Given the description of an element on the screen output the (x, y) to click on. 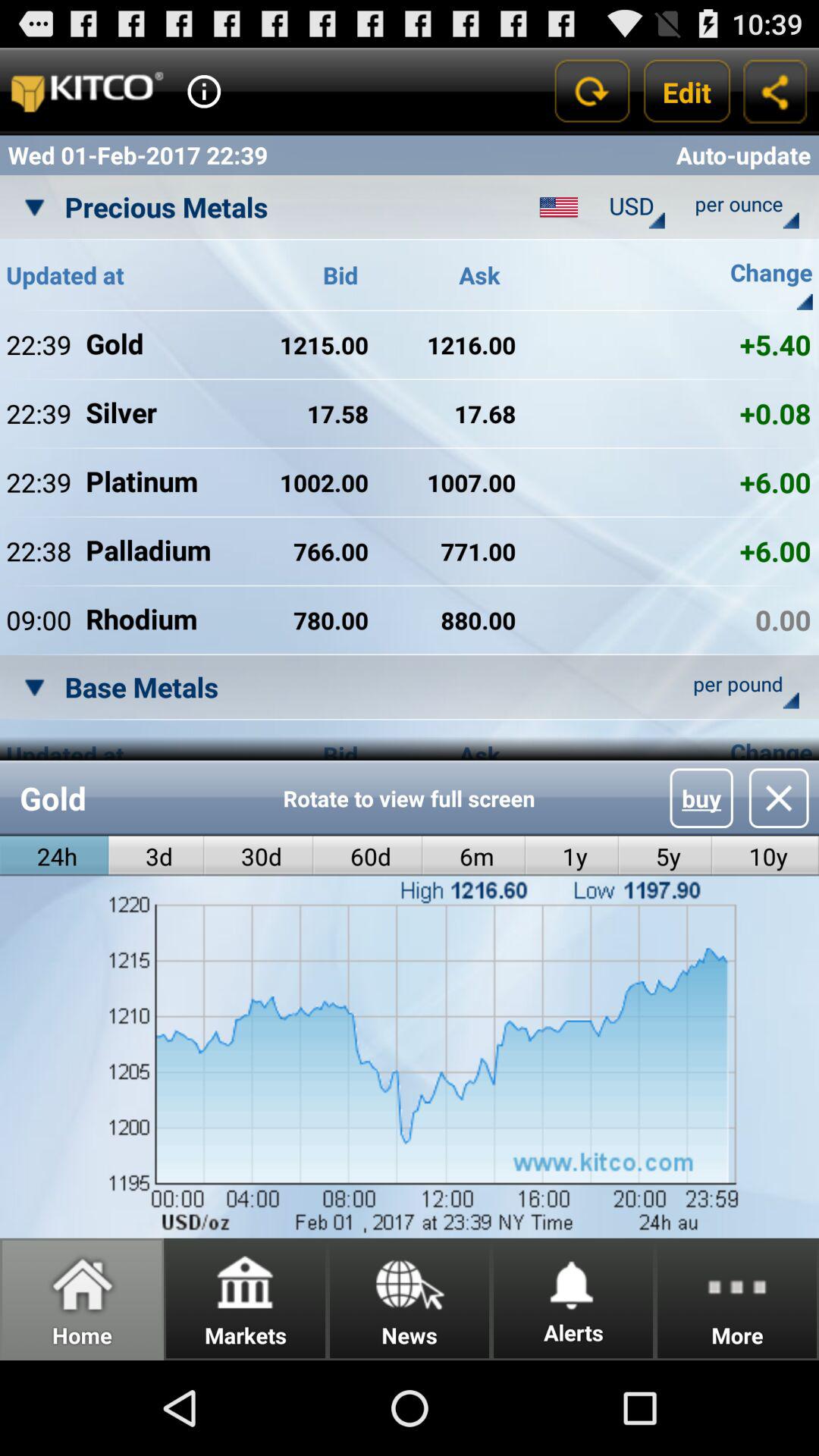
turn off item to the right of the 1y (665, 856)
